Given the description of an element on the screen output the (x, y) to click on. 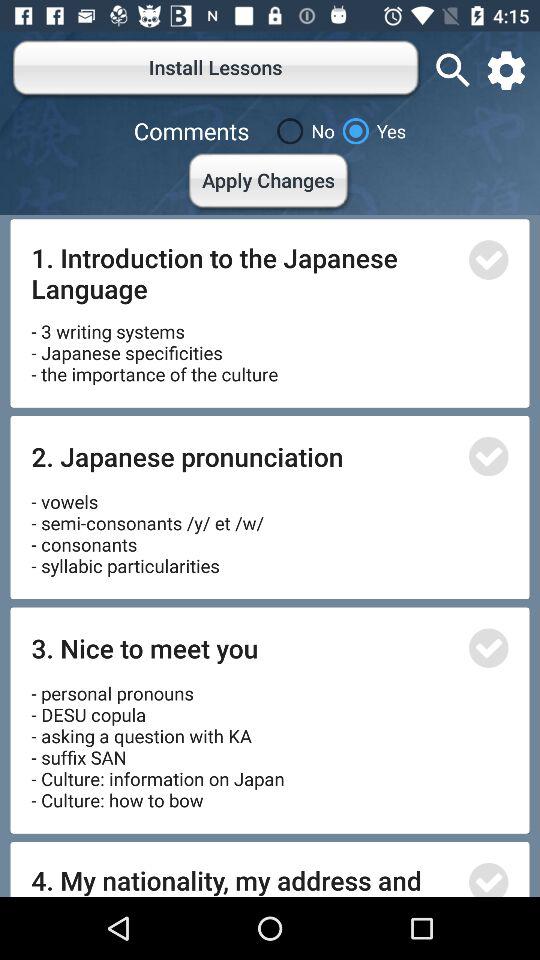
click icon below personal pronouns desu (243, 879)
